Given the description of an element on the screen output the (x, y) to click on. 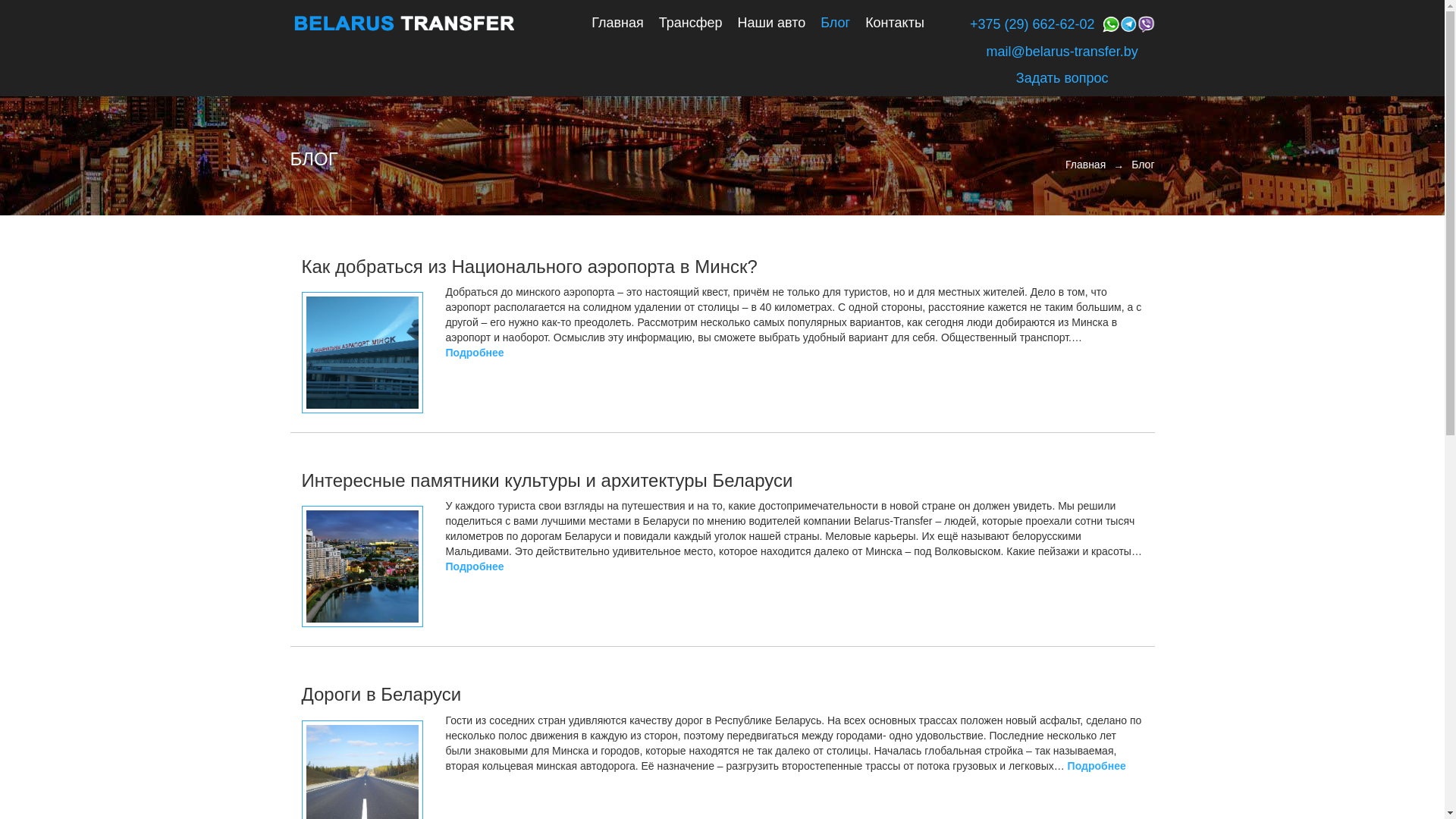
belarus-transfer.by Element type: hover (403, 23)
mail@belarus-transfer.by Element type: text (1061, 51)
+375 (29) 662-62-02 Element type: text (1032, 24)
